Given the description of an element on the screen output the (x, y) to click on. 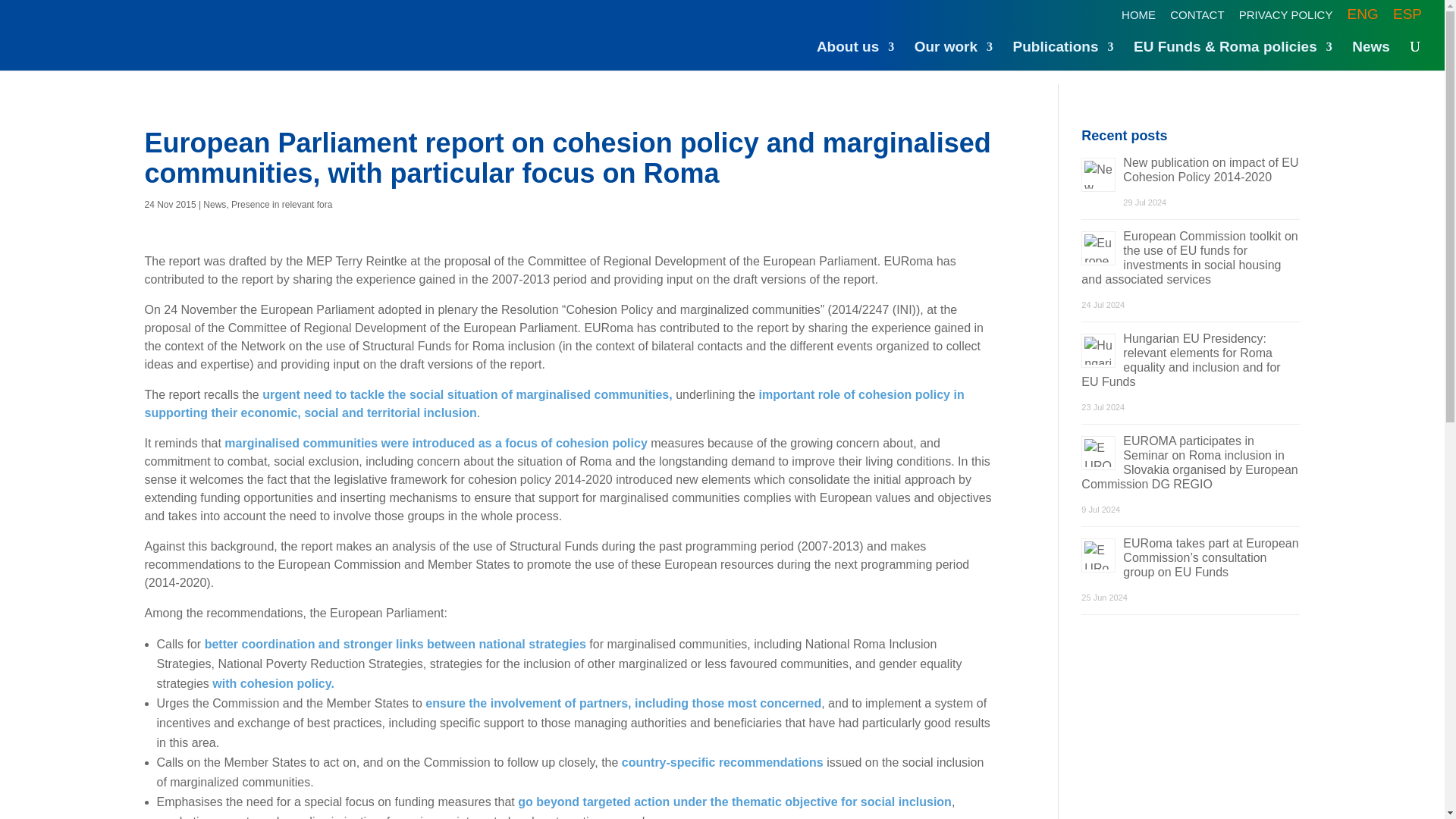
HOME (1138, 18)
ENG (1363, 18)
New publication on impact of EU Cohesion Policy 2014-2020 (1210, 169)
ESP (1407, 18)
CONTACT (1197, 18)
PRIVACY POLICY (1286, 18)
About us (854, 54)
